Given the description of an element on the screen output the (x, y) to click on. 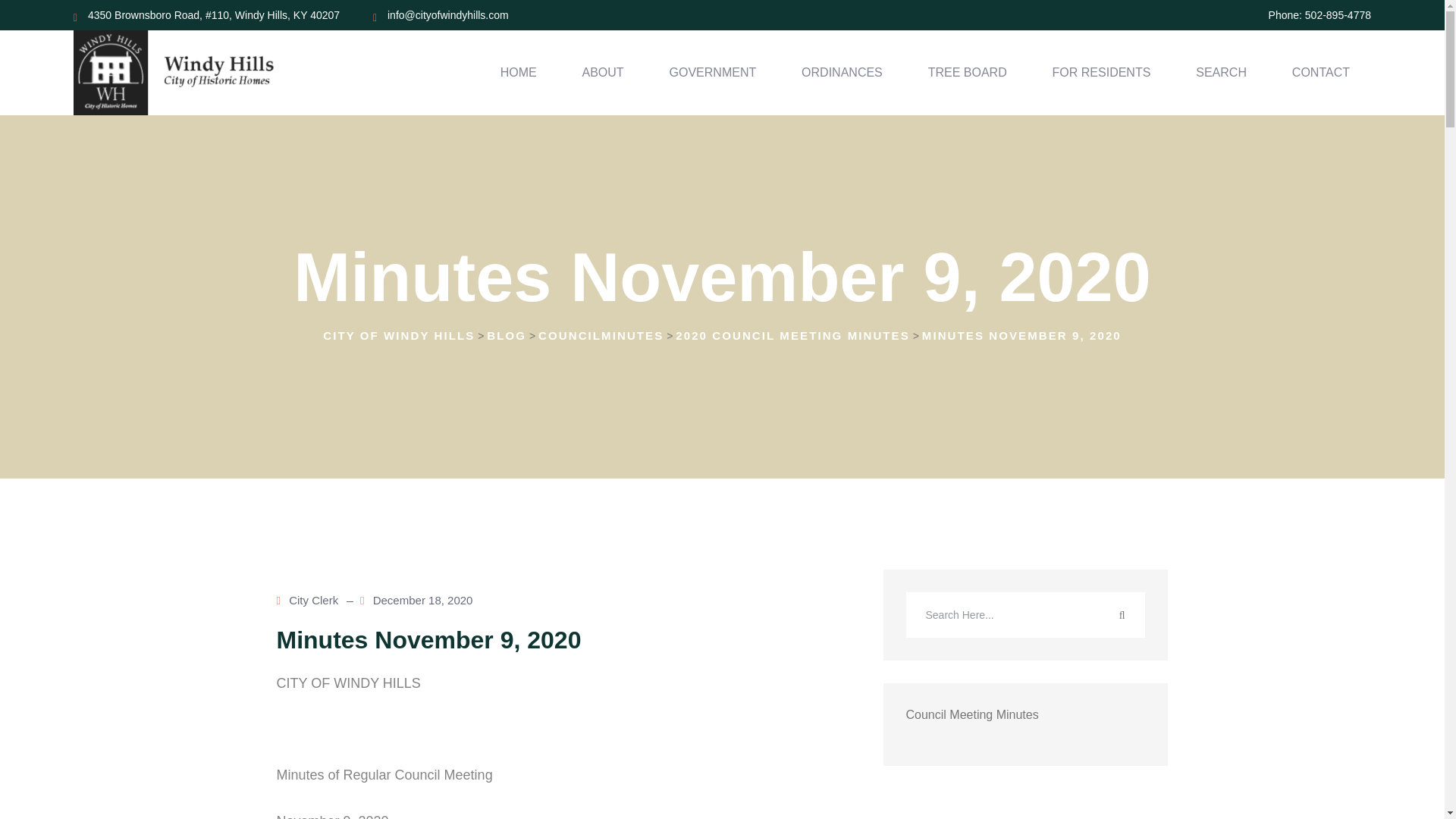
GOVERNMENT (713, 72)
TREE BOARD (967, 72)
ORDINANCES (842, 72)
502-895-4778 (1337, 15)
FOR RESIDENTS (1101, 72)
Government (713, 72)
